Given the description of an element on the screen output the (x, y) to click on. 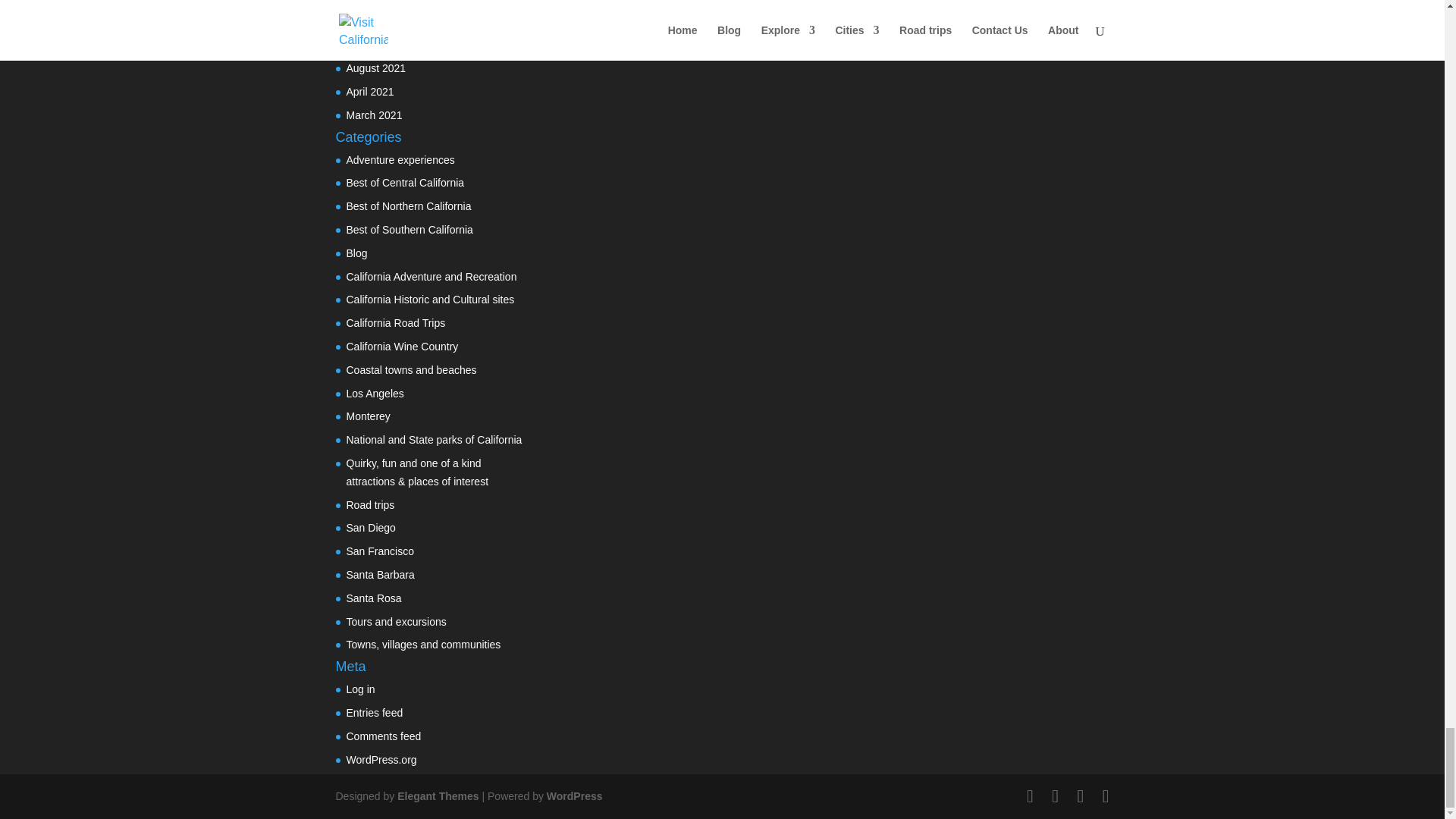
Premium WordPress Themes (438, 796)
